Given the description of an element on the screen output the (x, y) to click on. 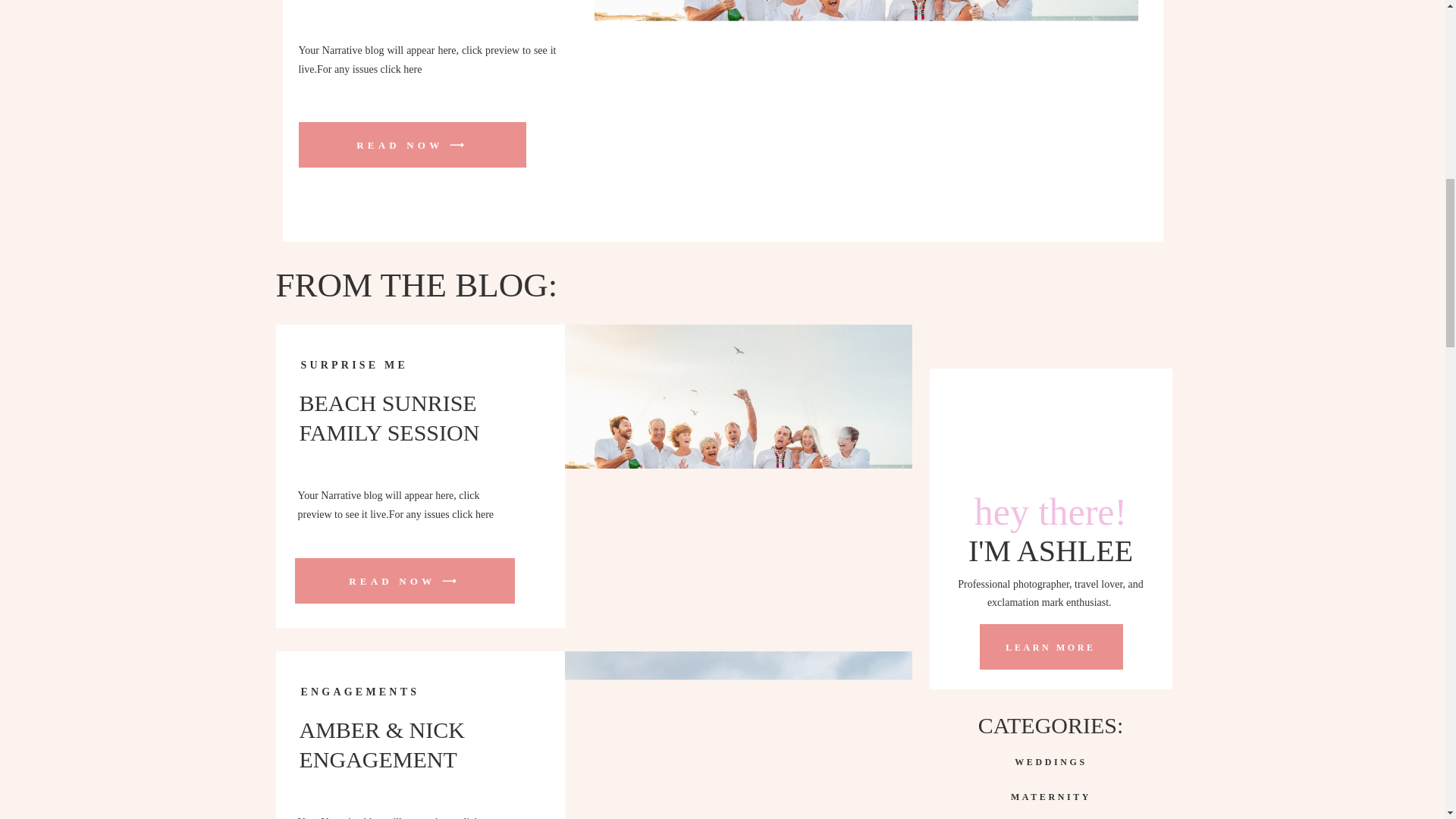
Beach Sunrise Family Session (737, 476)
hey there! (1049, 510)
MATERNITY (1051, 794)
I'M ASHLEE (1051, 552)
Beach Sunrise Family Session (411, 144)
Beach Sunrise Family Session (403, 580)
LEARN MORE (1050, 646)
WEDDINGS (1050, 759)
